Given the description of an element on the screen output the (x, y) to click on. 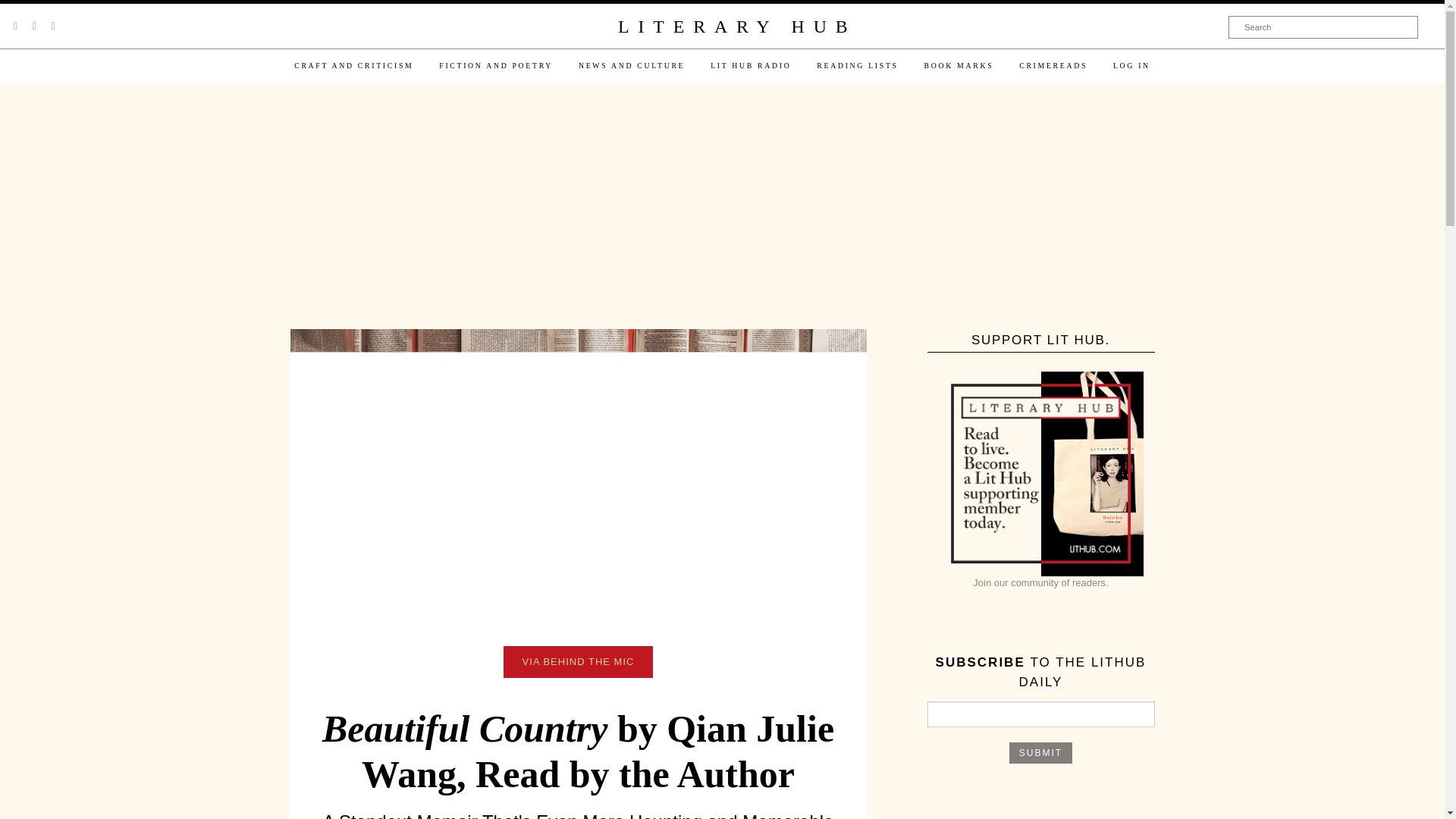
NEWS AND CULTURE (631, 65)
FICTION AND POETRY (496, 65)
Search (1323, 26)
LITERARY HUB (736, 26)
CRAFT AND CRITICISM (353, 65)
